Given the description of an element on the screen output the (x, y) to click on. 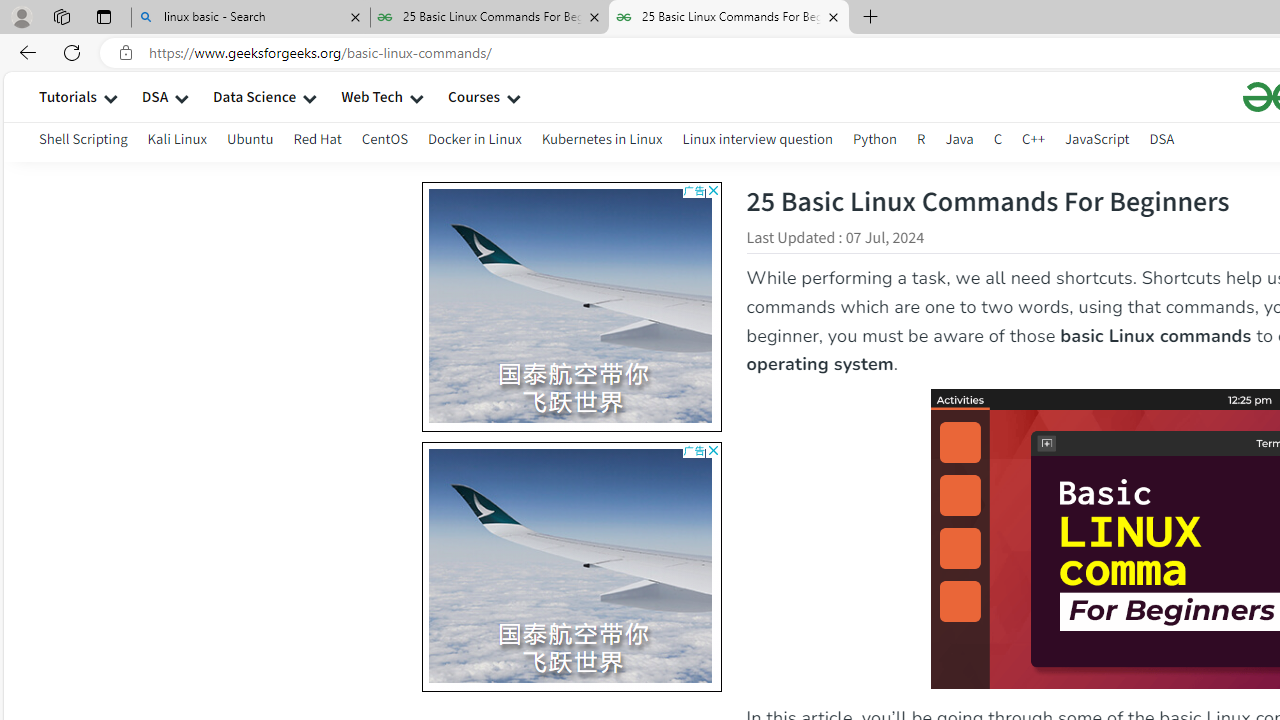
CentOS (384, 142)
AutomationID: brandFlyLogo (572, 457)
Red Hat (317, 142)
To get missing image descriptions, open the context menu. (291, 568)
Kubernetes in Linux (602, 142)
DSA (1162, 142)
25 Basic Linux Commands For Beginners - GeeksforGeeks (729, 17)
linux basic - Search (250, 17)
AutomationID: bg3 (856, 566)
C (997, 138)
AutomationID: gradient2 (571, 563)
